Given the description of an element on the screen output the (x, y) to click on. 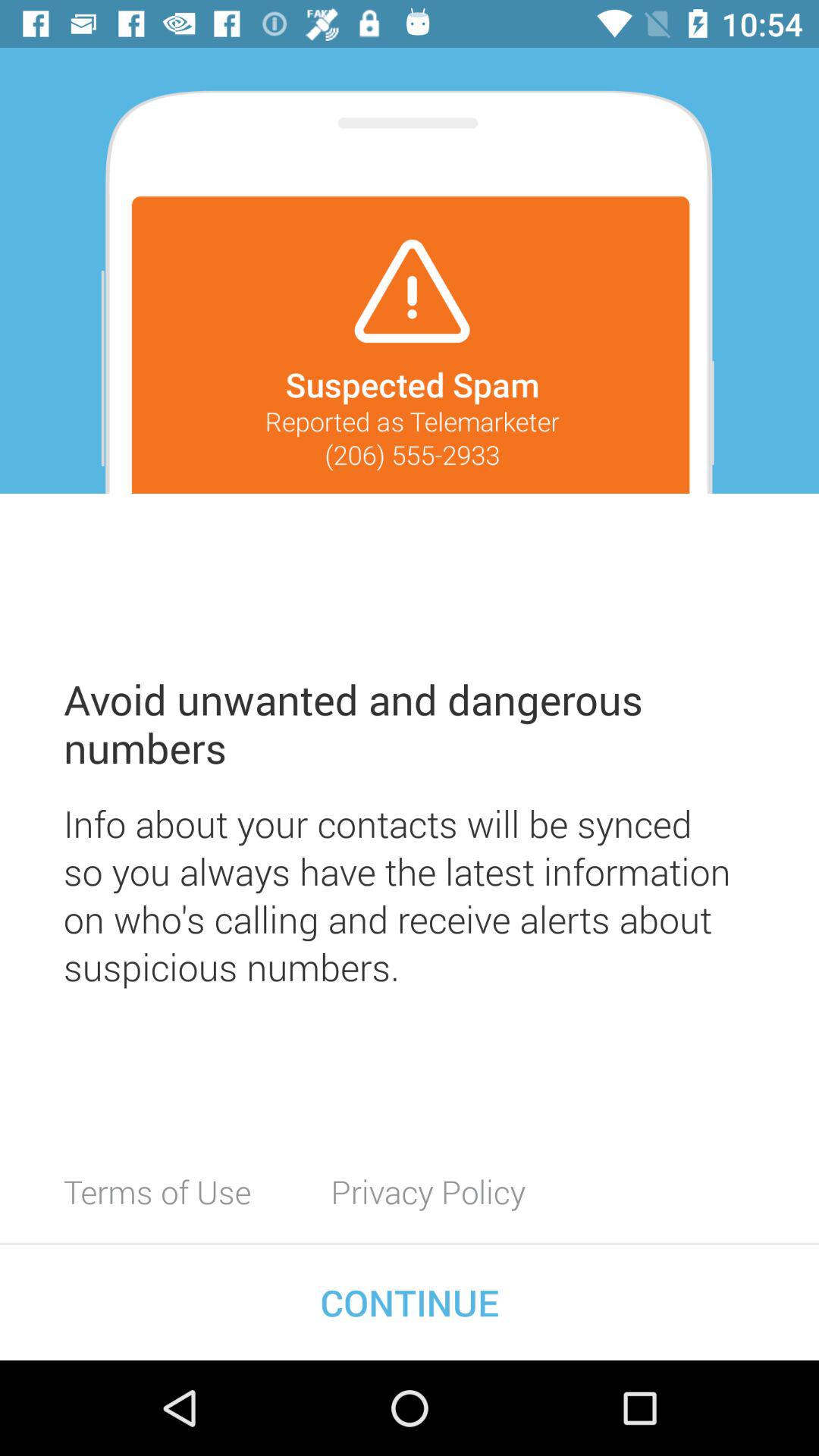
turn off the terms of use item (157, 1191)
